Given the description of an element on the screen output the (x, y) to click on. 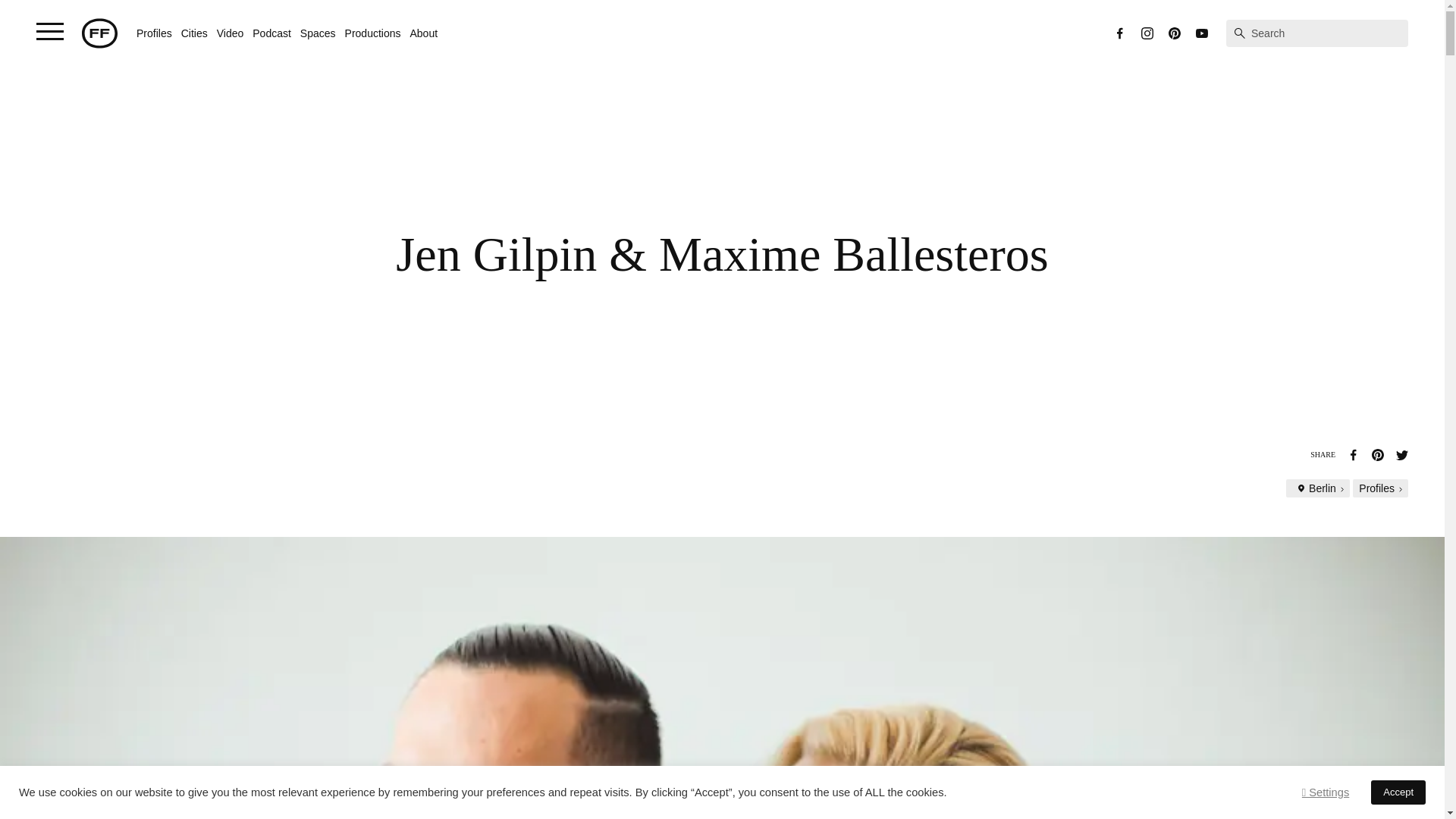
Podcast (271, 33)
YouTube (1201, 33)
Spaces (317, 33)
Profiles (153, 33)
Productions (373, 33)
Pinterest (1174, 33)
About (423, 33)
Facebook (1119, 33)
Instagram (1147, 33)
Video (230, 33)
